Given the description of an element on the screen output the (x, y) to click on. 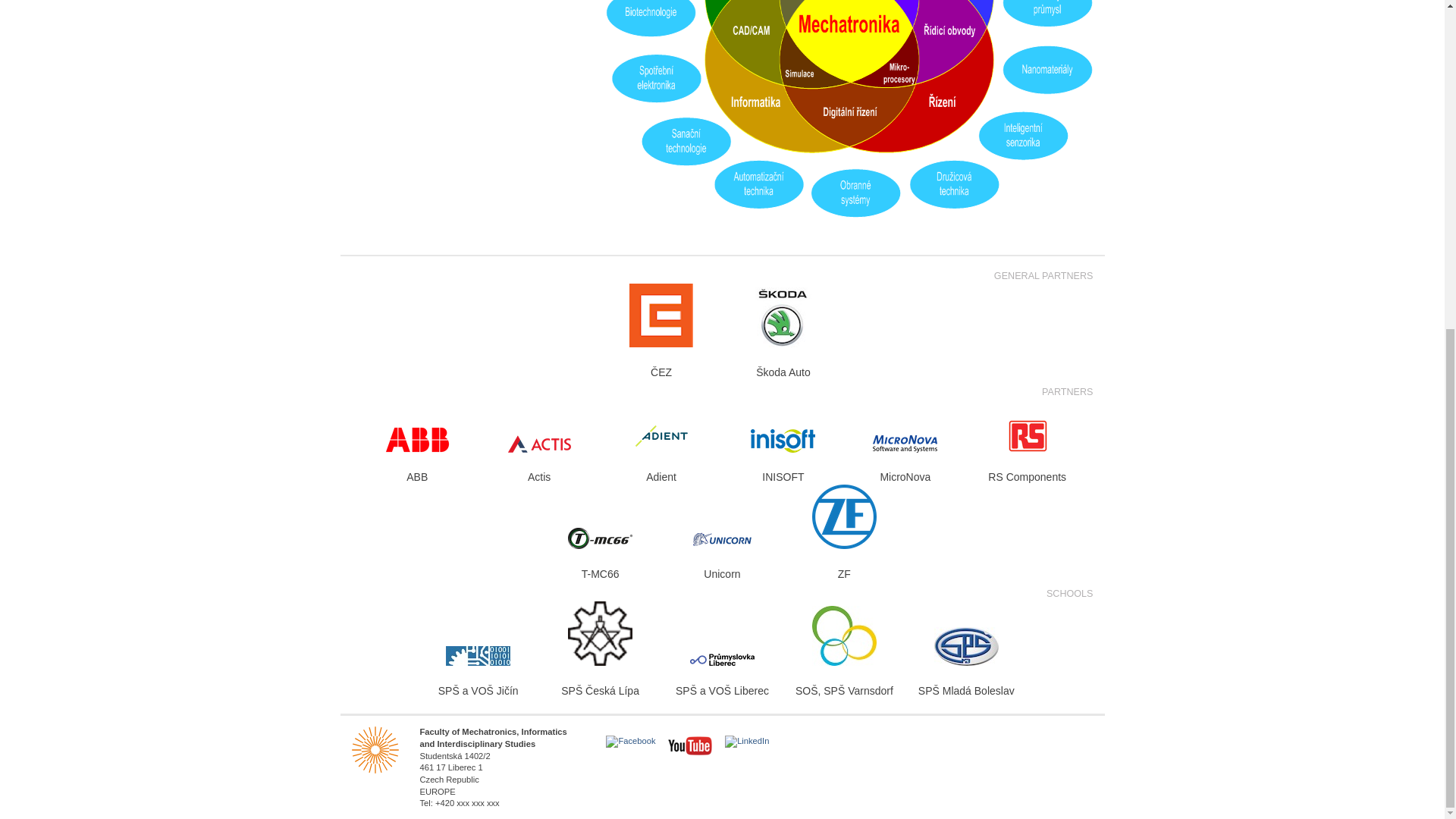
RS Components (1026, 425)
INISOFT (783, 440)
Adient (661, 435)
ZF (844, 516)
Actis (539, 443)
T-MC66 (599, 537)
ABB (417, 439)
Unicorn (722, 538)
MicroNova (904, 443)
